Given the description of an element on the screen output the (x, y) to click on. 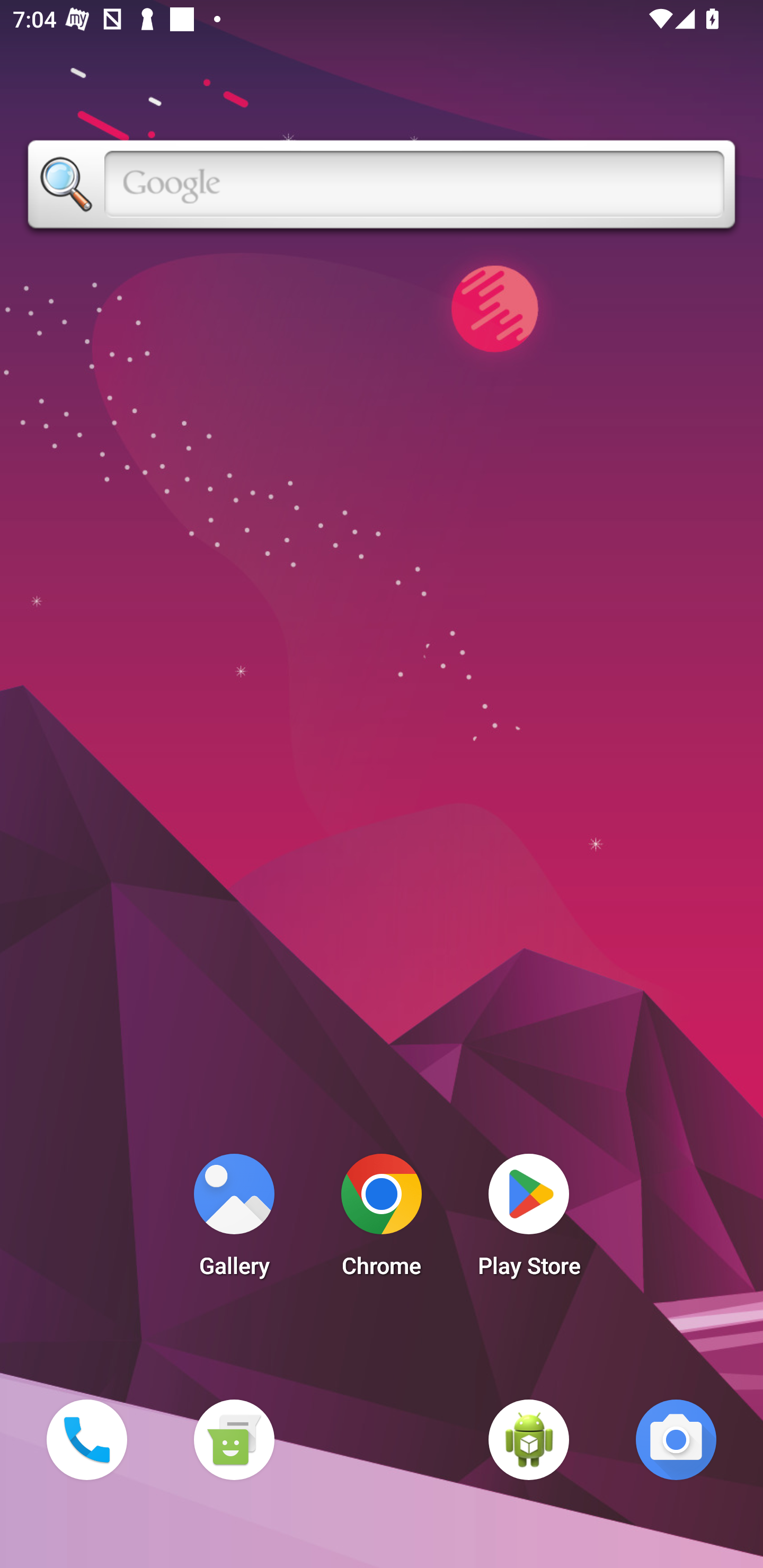
Gallery (233, 1220)
Chrome (381, 1220)
Play Store (528, 1220)
Phone (86, 1439)
Messaging (233, 1439)
WebView Browser Tester (528, 1439)
Camera (676, 1439)
